Given the description of an element on the screen output the (x, y) to click on. 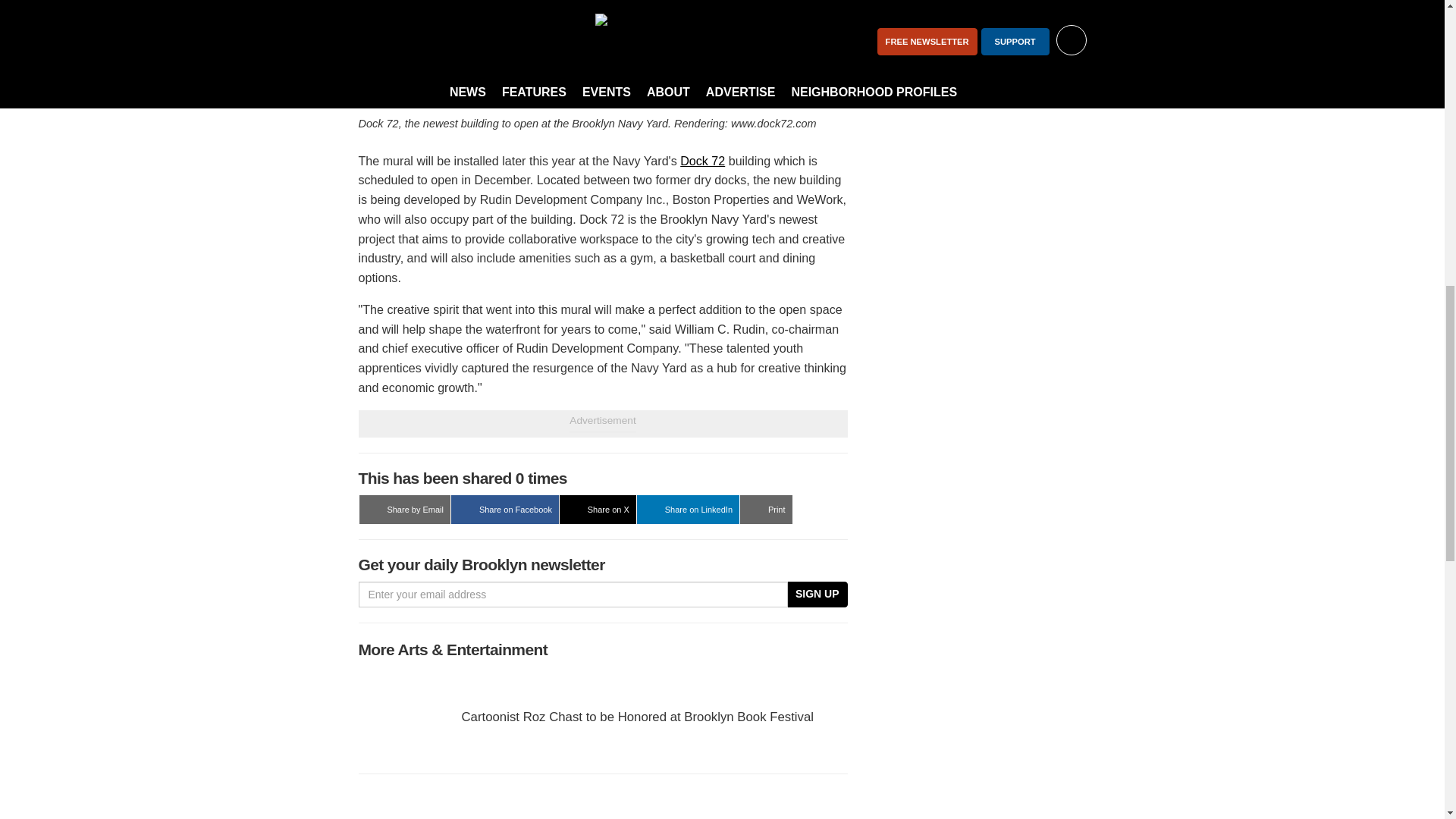
Page 1 (602, 38)
Sign me up (1034, 18)
